Given the description of an element on the screen output the (x, y) to click on. 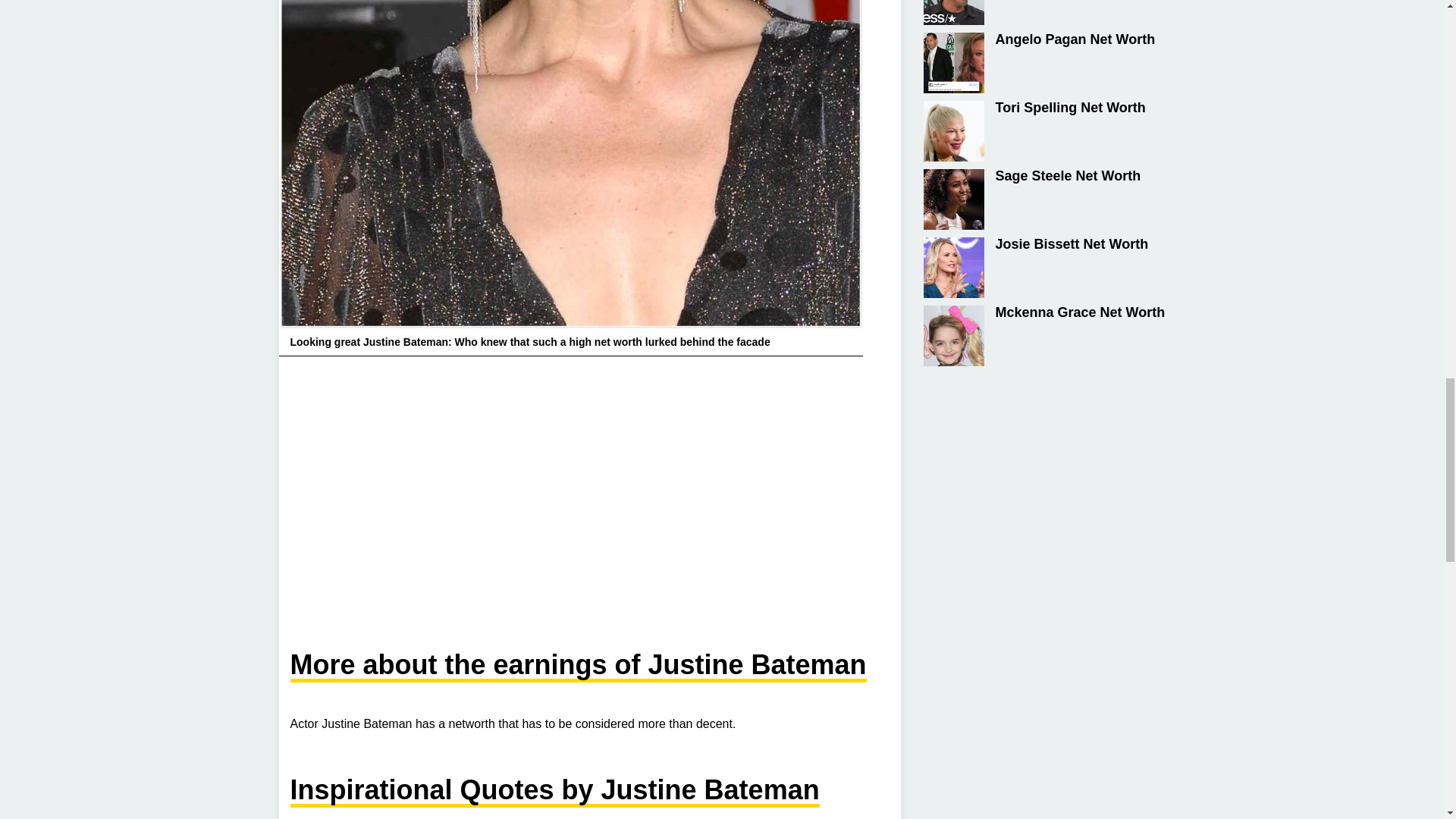
Josie Bissett Net Worth (1044, 267)
Angelo Pagan Net Worth (1044, 62)
Sage Steele Net Worth (1044, 199)
Mckenna Grace Net Worth (1044, 335)
David Boreanaz Net Worth (1044, 12)
Tori Spelling Net Worth (1044, 130)
